Given the description of an element on the screen output the (x, y) to click on. 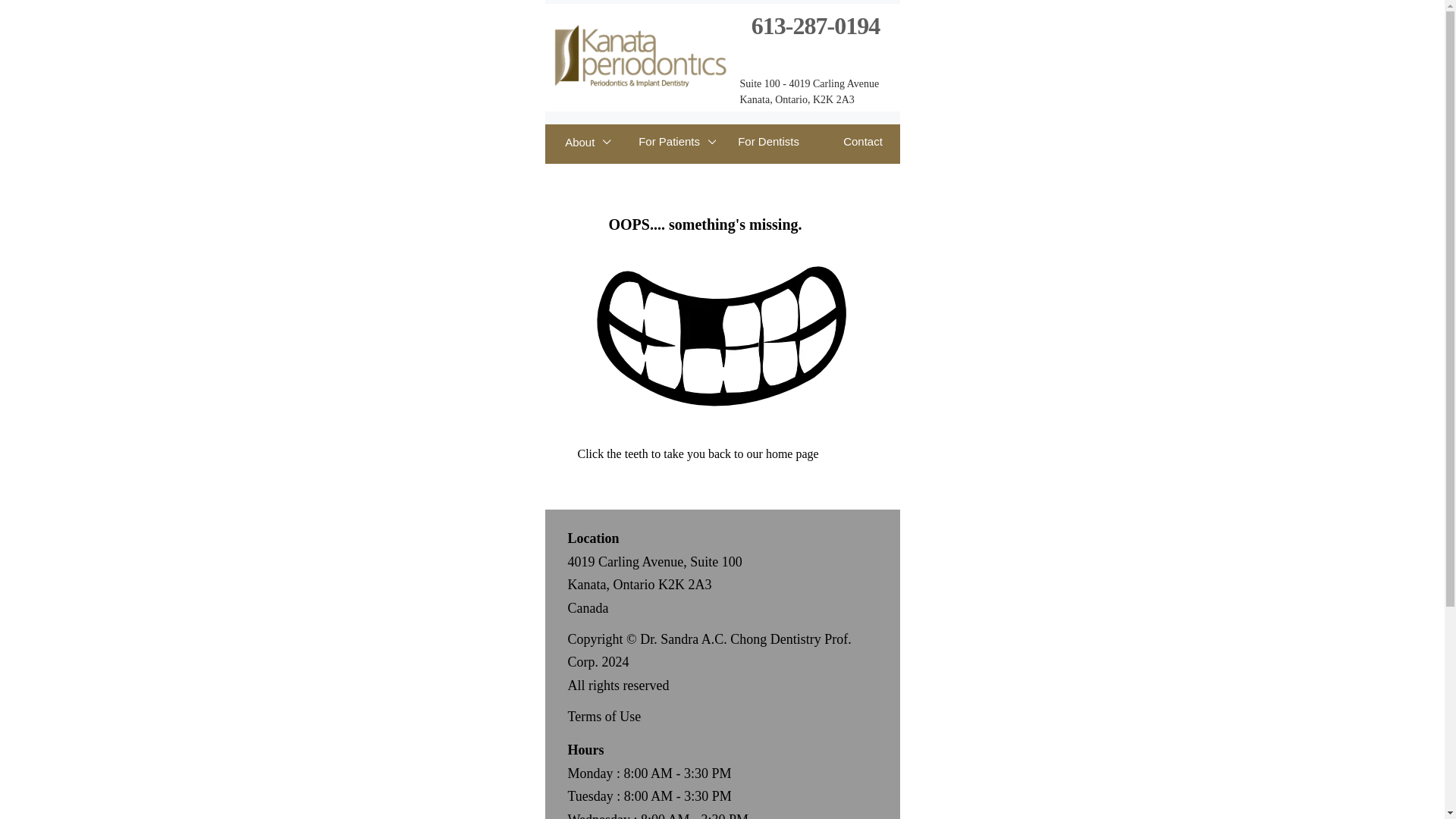
For Patients (676, 141)
Terms of Use (603, 716)
For Dentists (768, 141)
Contact (862, 141)
About (588, 141)
